Given the description of an element on the screen output the (x, y) to click on. 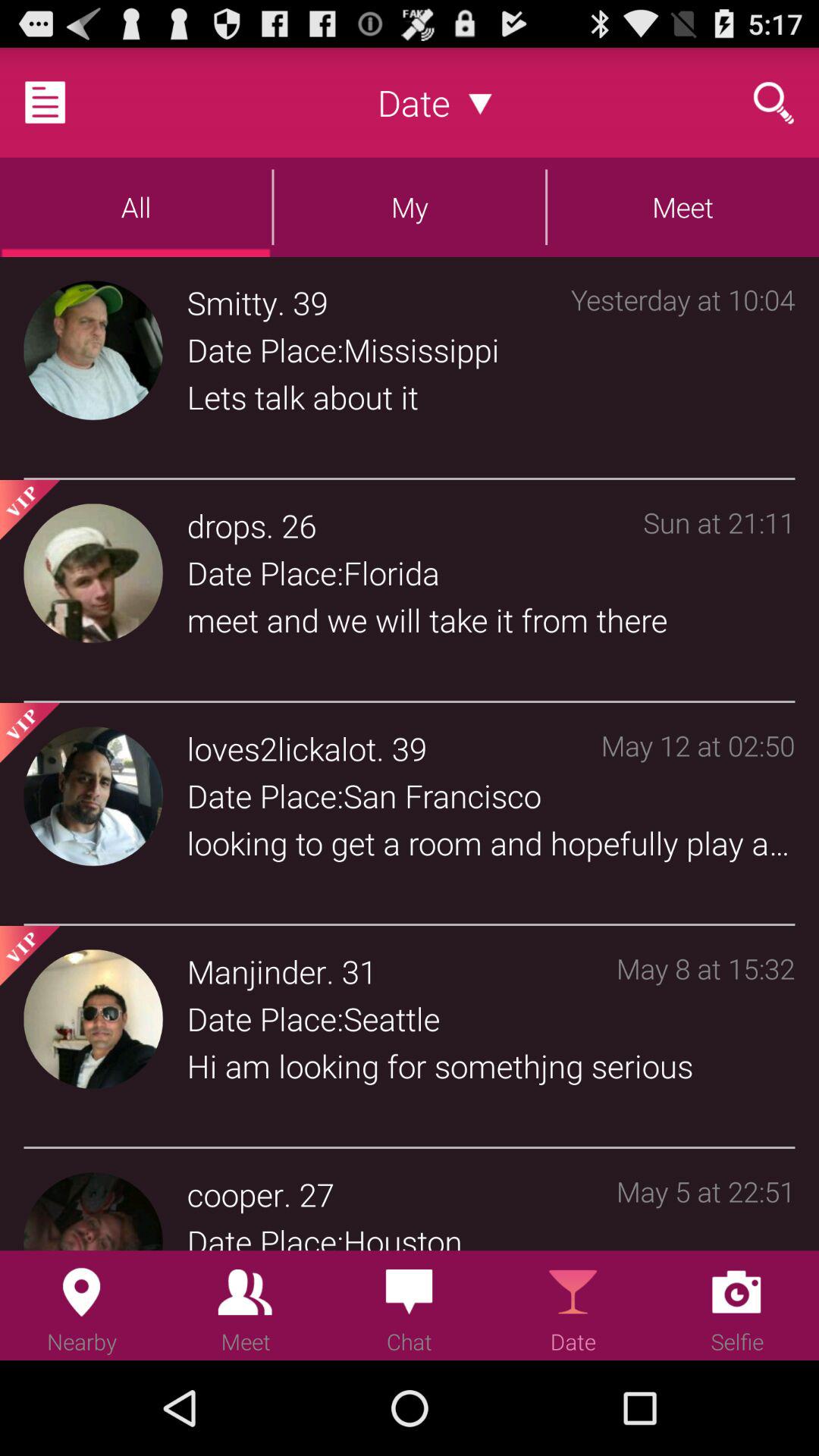
click icon to the left of .  icon (256, 971)
